Given the description of an element on the screen output the (x, y) to click on. 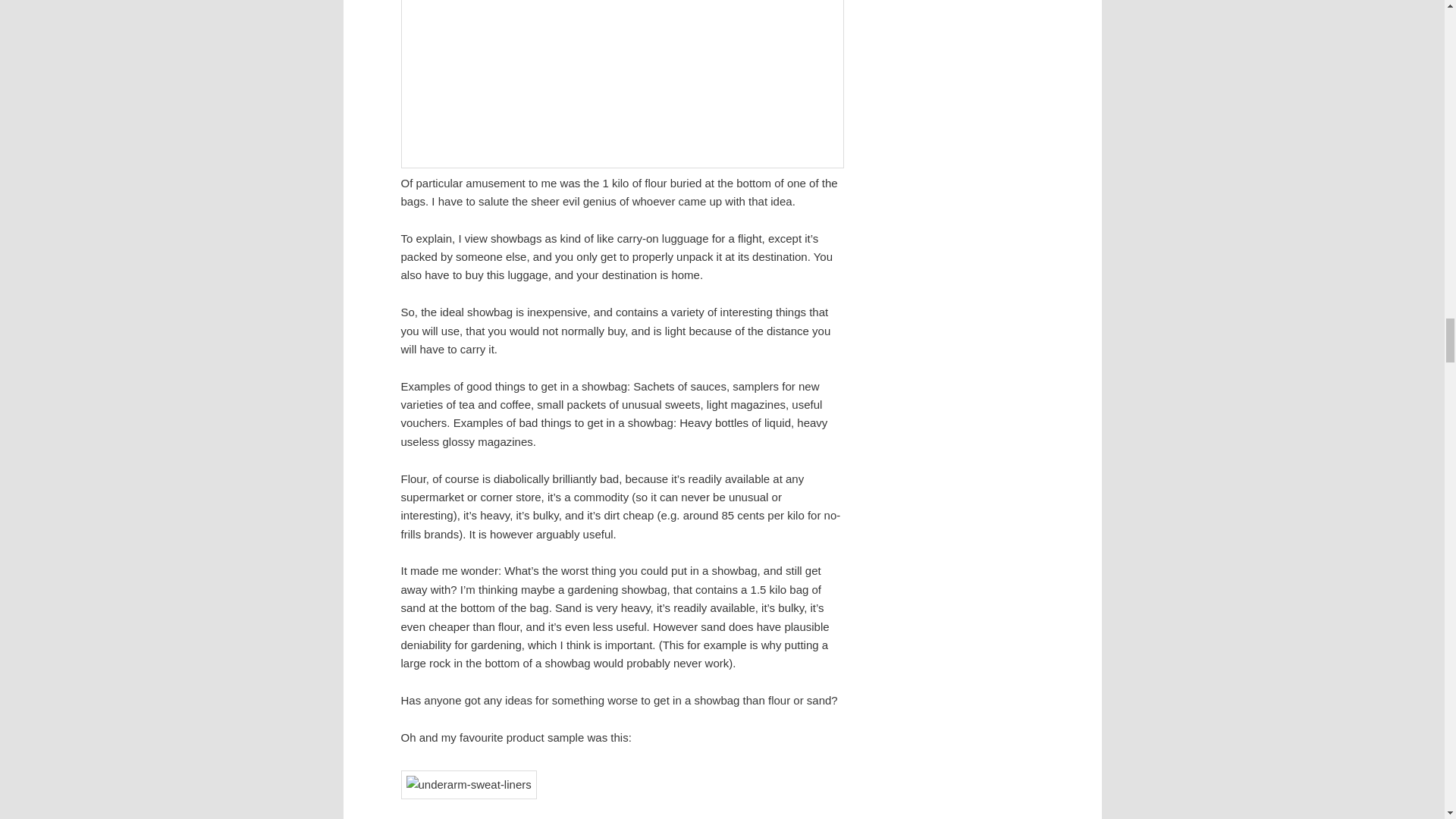
underarm-sweat-liners (467, 784)
showbag-stuff (621, 84)
